Given the description of an element on the screen output the (x, y) to click on. 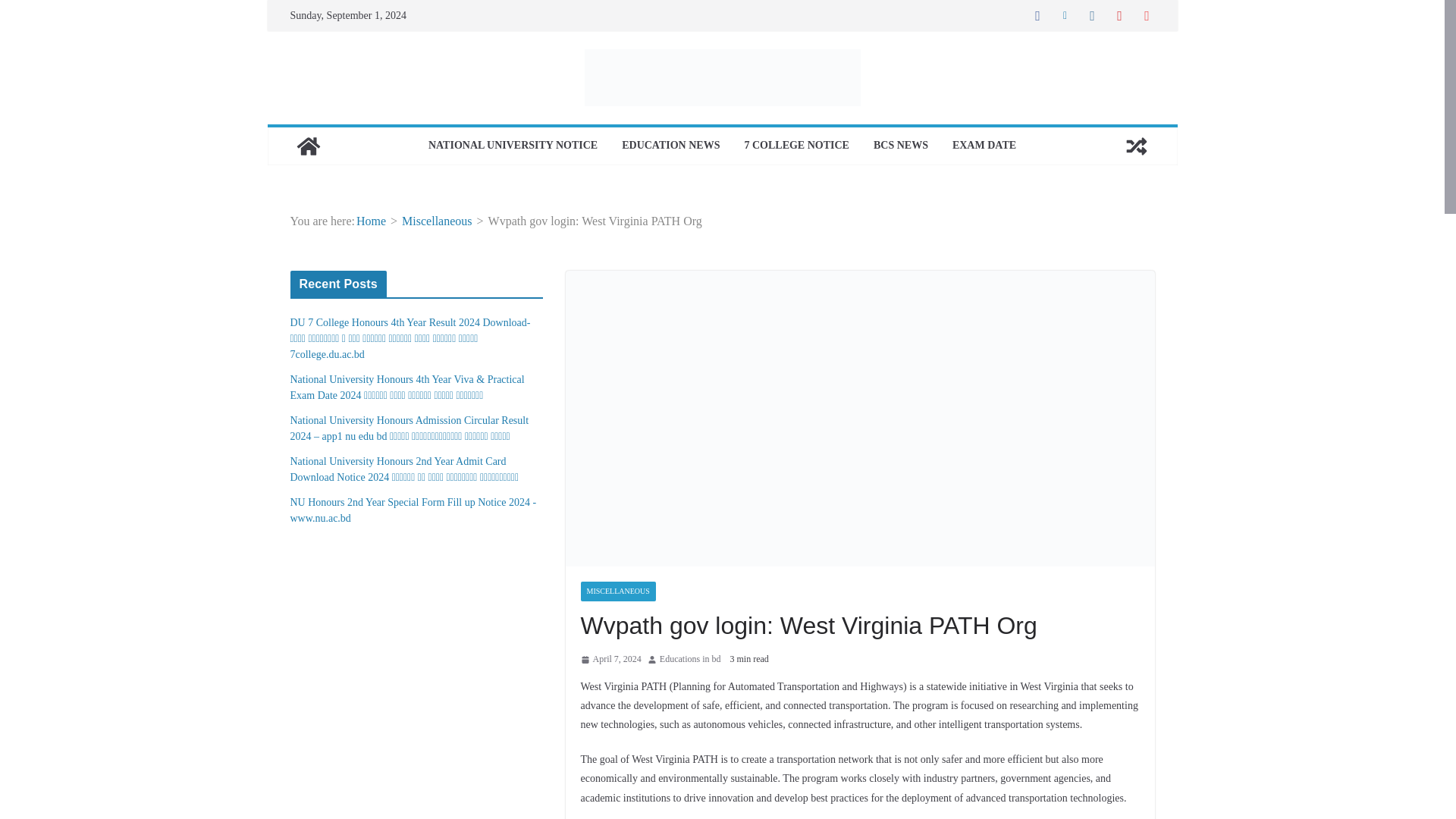
7 COLLEGE NOTICE (796, 146)
View a random post (1136, 145)
April 7, 2024 (611, 659)
Educations in bd (689, 659)
BCS NEWS (900, 146)
MISCELLANEOUS (618, 591)
Miscellaneous (436, 220)
9:49 AM (611, 659)
Educations in bd (689, 659)
Home (370, 220)
